Given the description of an element on the screen output the (x, y) to click on. 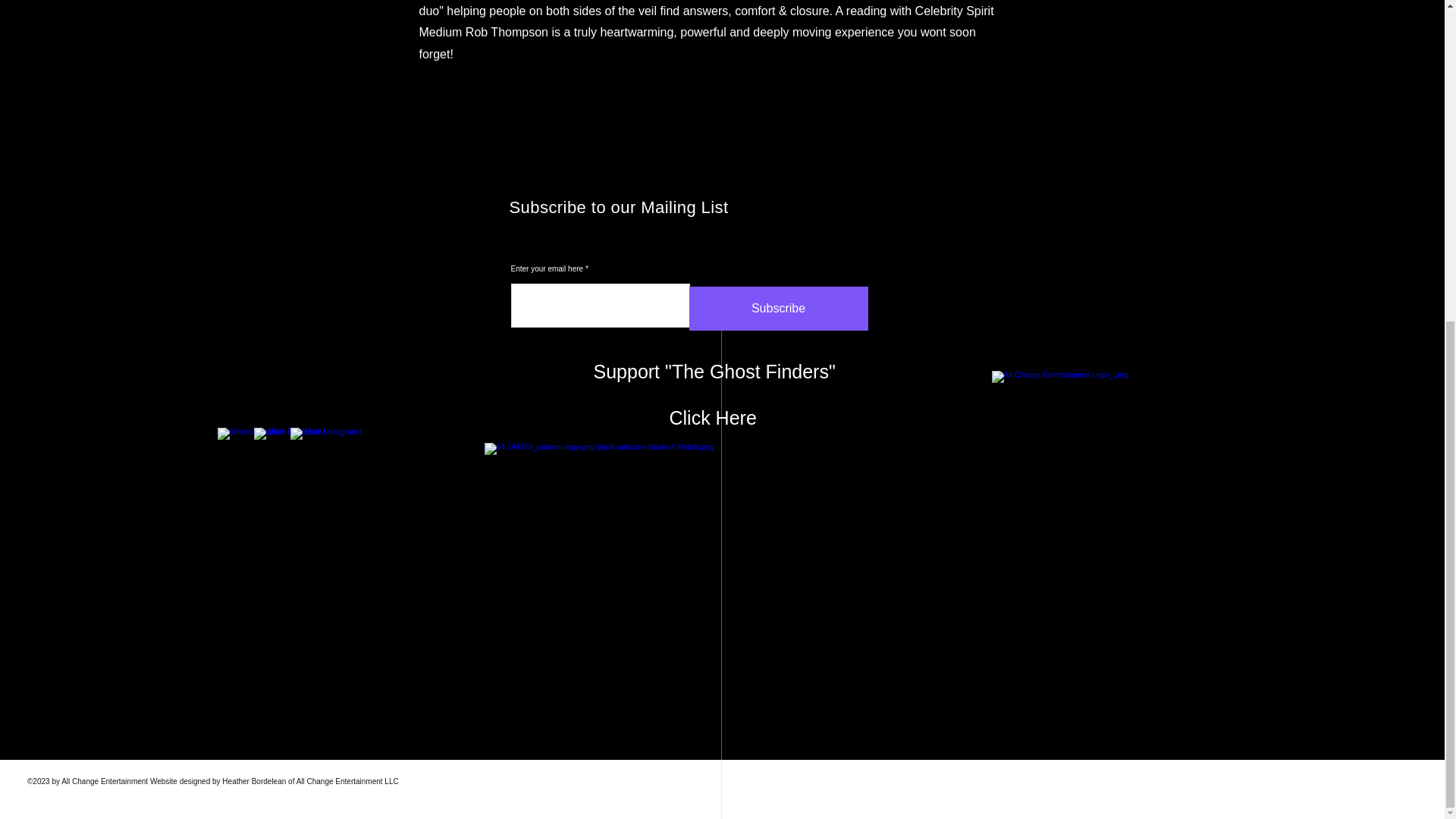
Subscribe (777, 308)
